Given the description of an element on the screen output the (x, y) to click on. 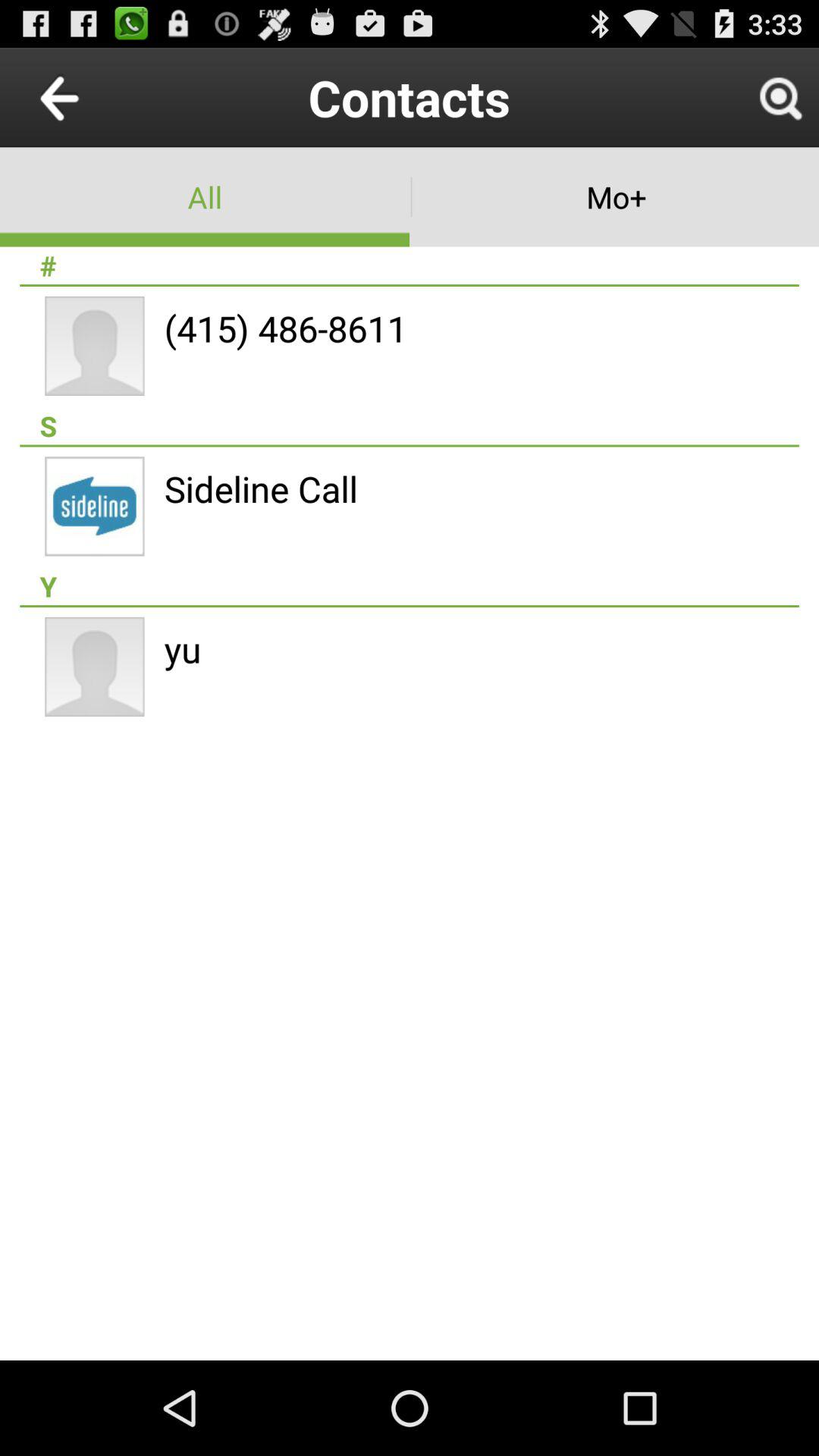
go back (94, 97)
